Given the description of an element on the screen output the (x, y) to click on. 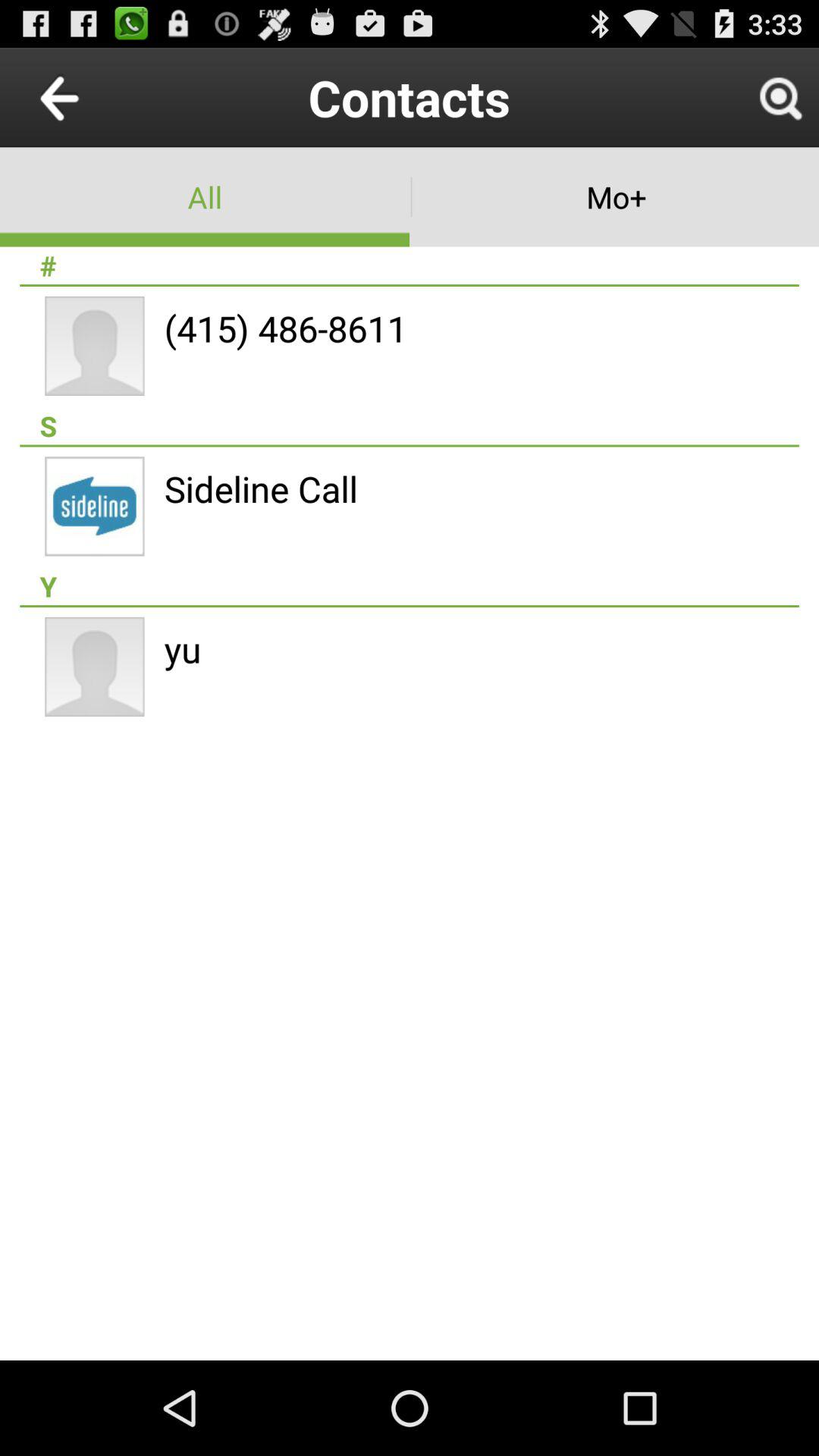
go back (94, 97)
